Given the description of an element on the screen output the (x, y) to click on. 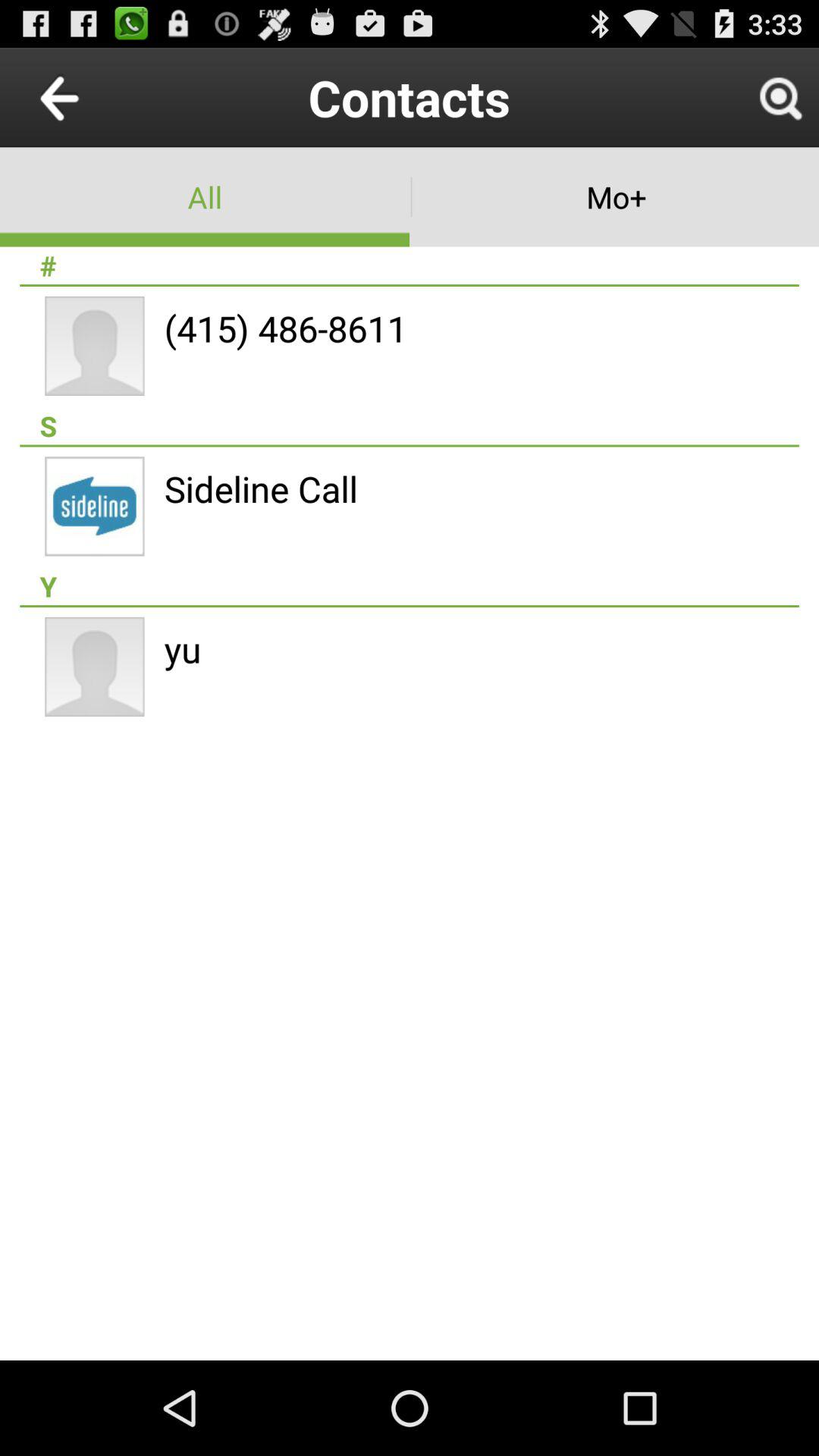
go back (94, 97)
